Given the description of an element on the screen output the (x, y) to click on. 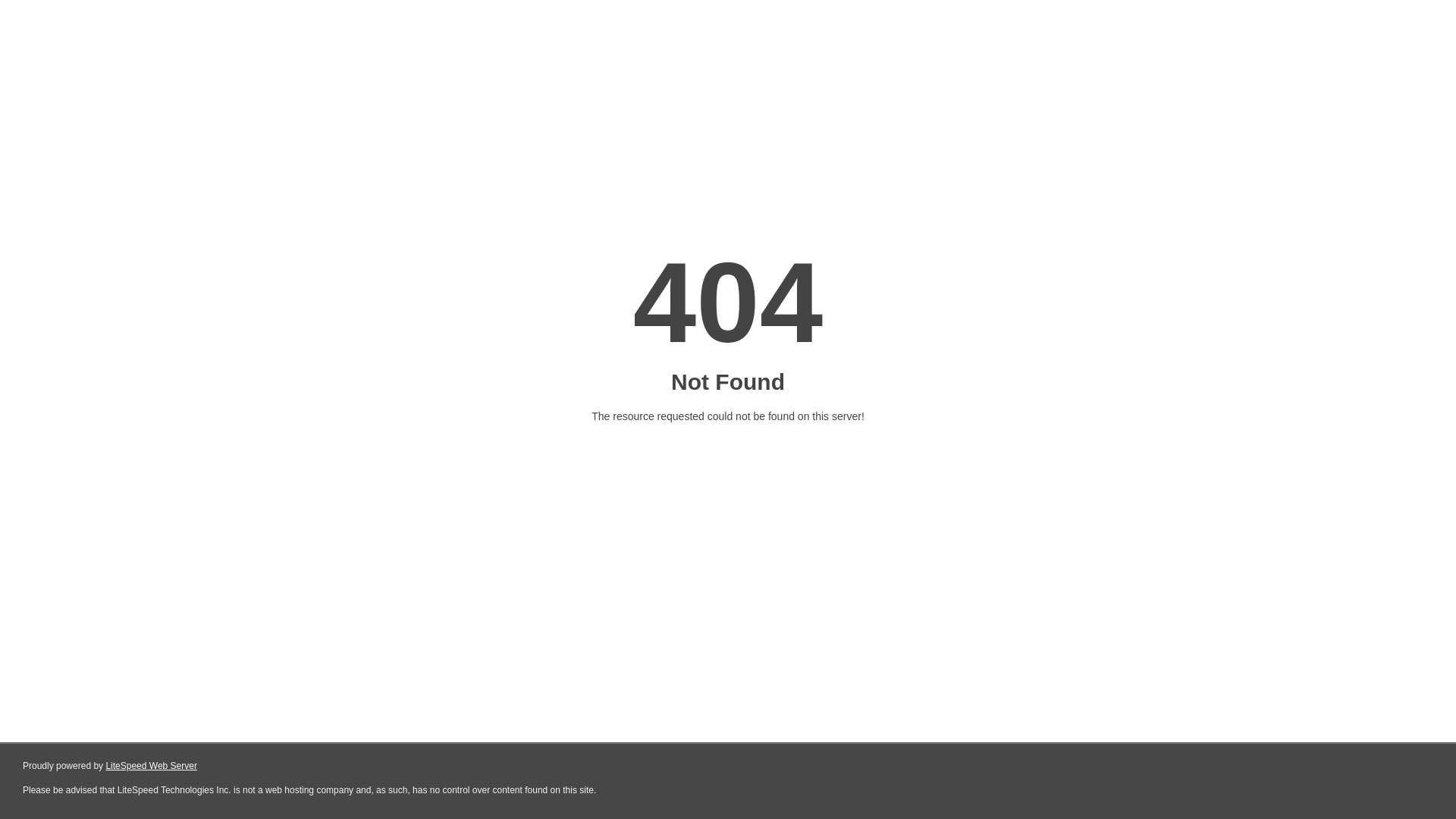
LiteSpeed Web Server Element type: text (151, 765)
